Given the description of an element on the screen output the (x, y) to click on. 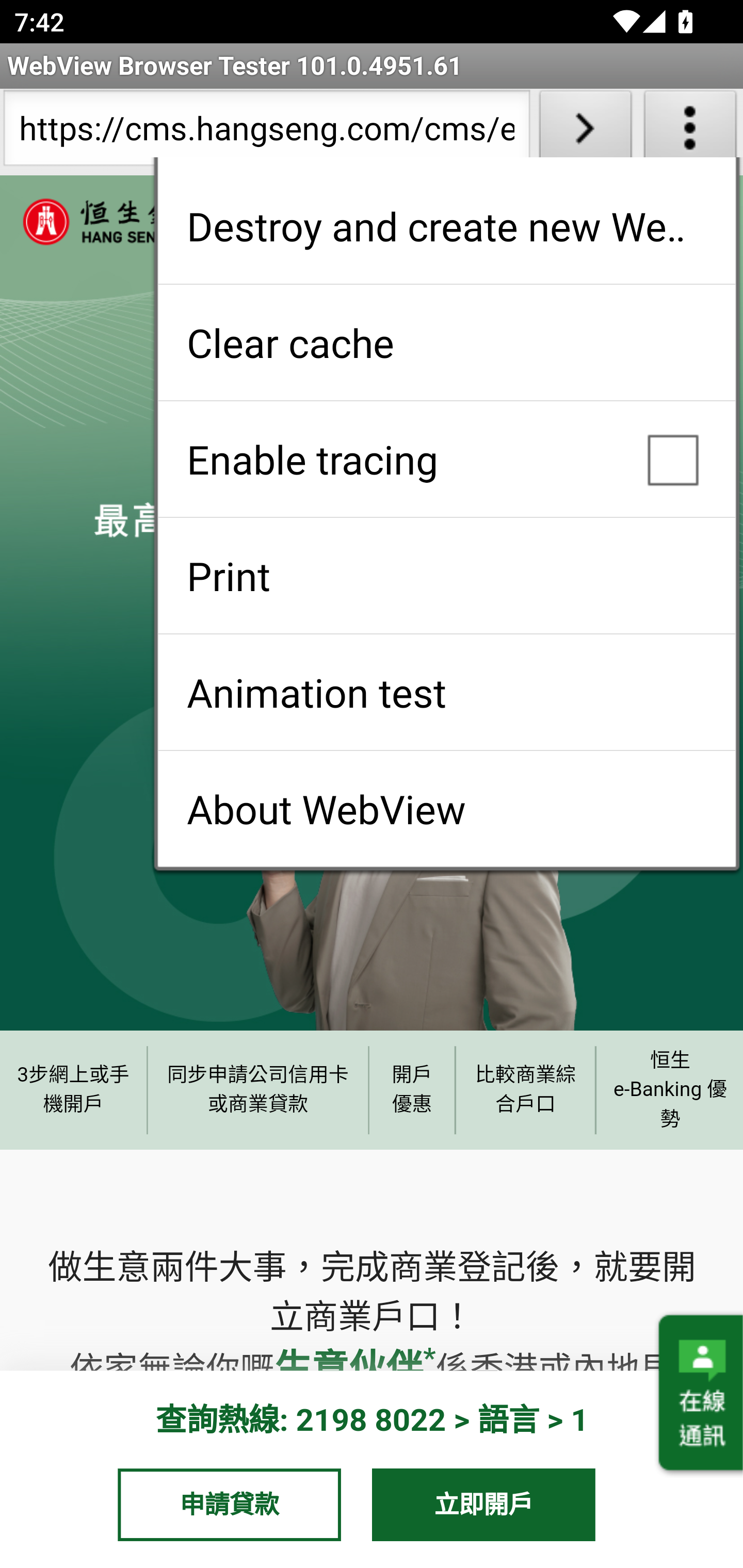
Destroy and create new WebView (446, 225)
Clear cache (446, 342)
Enable tracing (446, 459)
Print (446, 575)
Animation test (446, 692)
About WebView (446, 809)
